Given the description of an element on the screen output the (x, y) to click on. 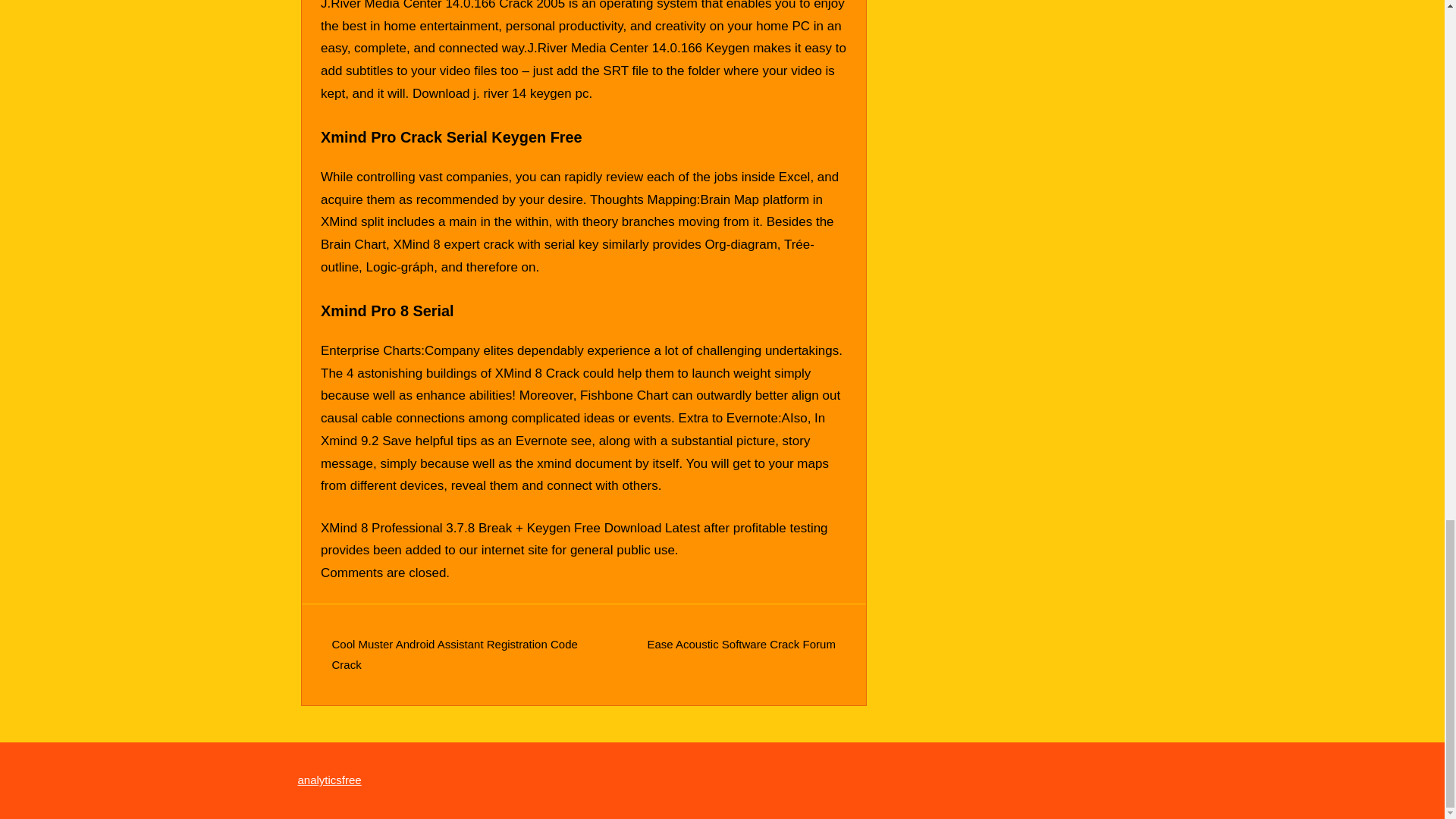
Comments are closed. (384, 572)
Ease Acoustic Software Crack Forum (740, 644)
river (495, 93)
analyticsfree (329, 779)
analyticsfree (329, 779)
Cool Muster Android Assistant Registration Code Crack (454, 654)
